Given the description of an element on the screen output the (x, y) to click on. 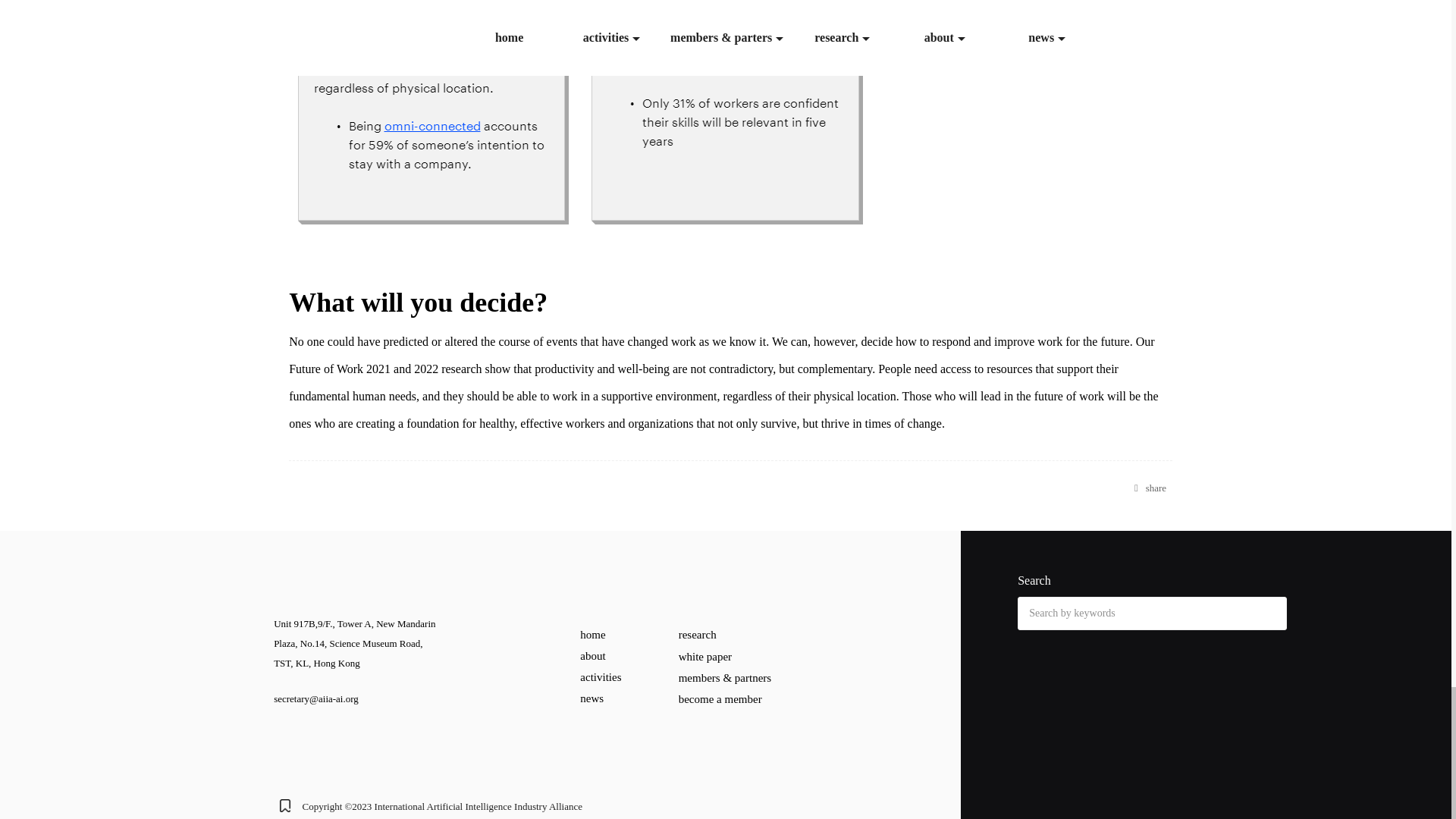
news (591, 698)
about (592, 655)
home (592, 634)
activities (600, 676)
white paper (705, 656)
research (697, 634)
